Given the description of an element on the screen output the (x, y) to click on. 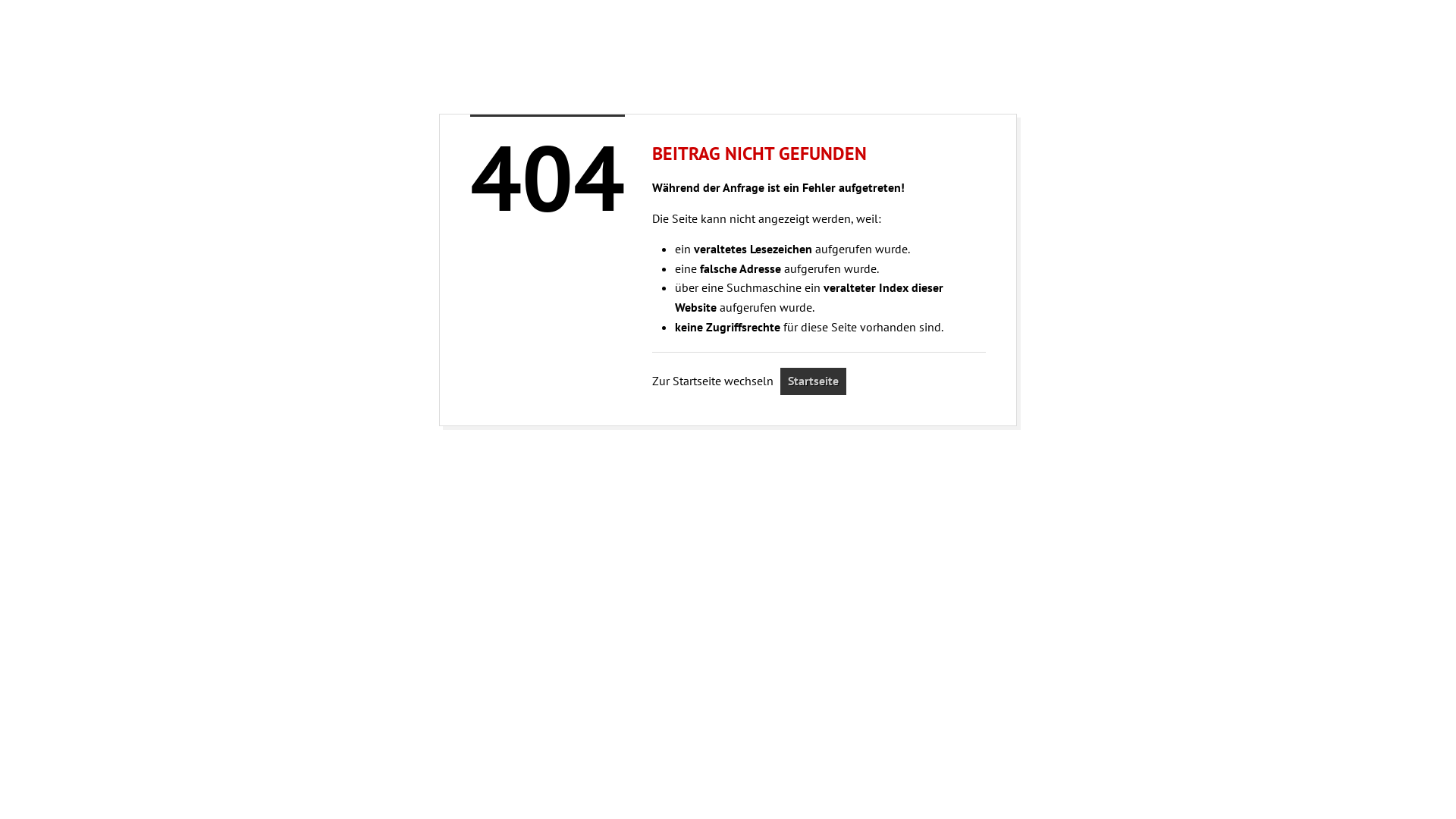
Startseite Element type: text (813, 381)
